Given the description of an element on the screen output the (x, y) to click on. 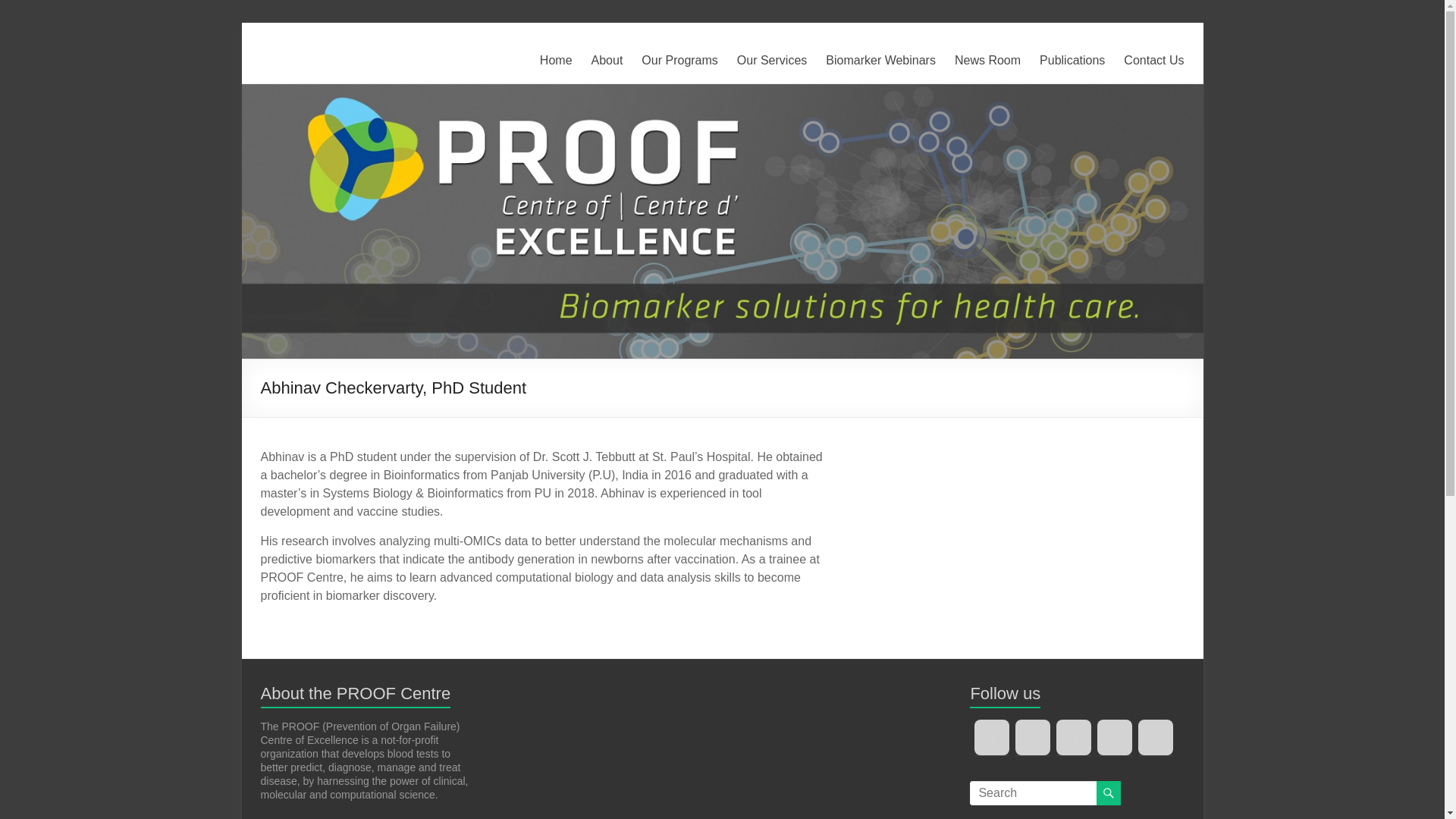
Biomarker Webinars (880, 60)
Publications (1072, 60)
Contact Us (1153, 60)
PROOF Centre (307, 68)
Our Programs (679, 60)
Twitter (991, 737)
PROOF Centre (307, 68)
About (607, 60)
YouTube (1073, 737)
